Given the description of an element on the screen output the (x, y) to click on. 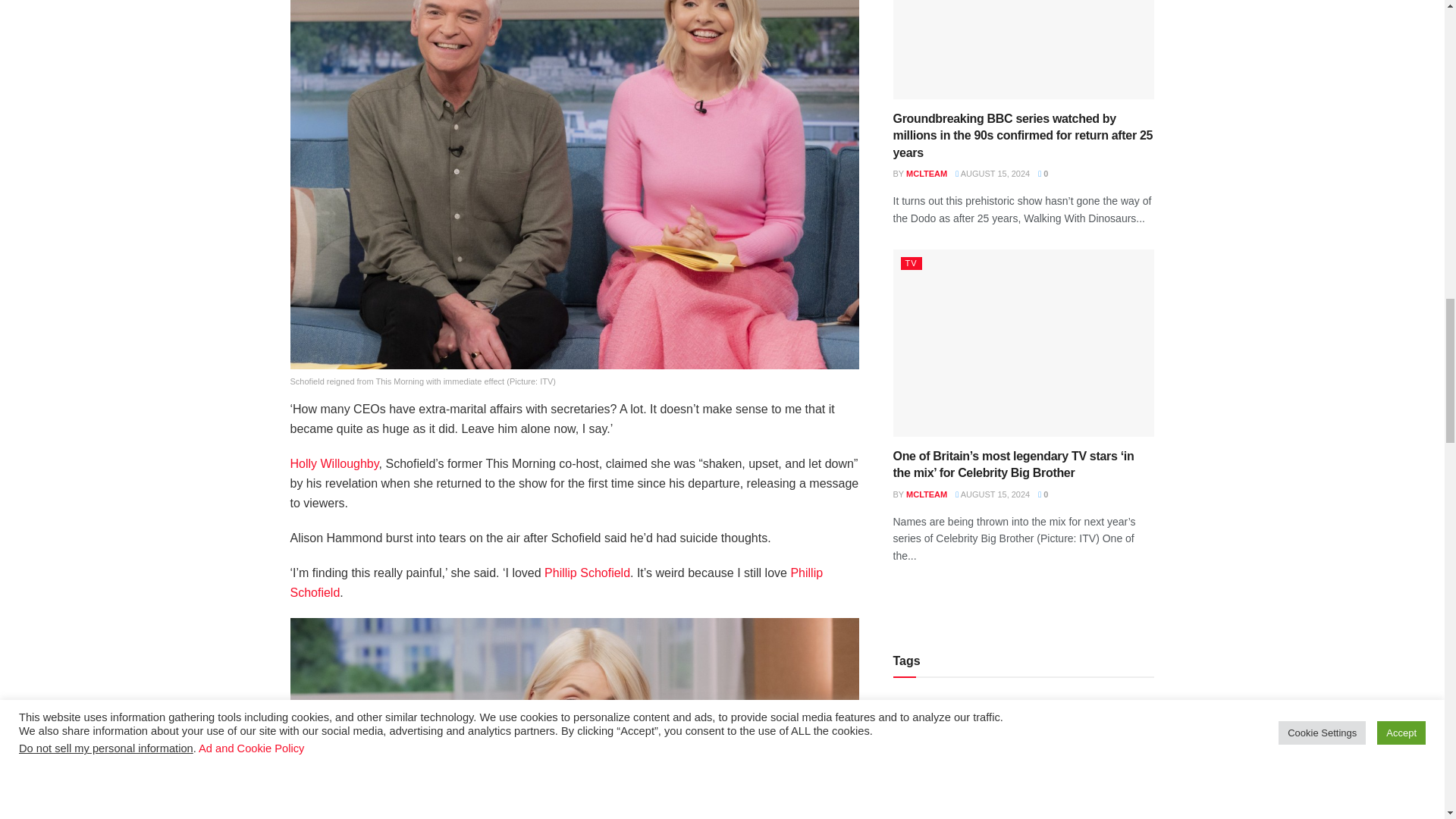
holly willoughby (333, 463)
Phillip Schofield (555, 582)
Phillip Schofield (587, 572)
